Given the description of an element on the screen output the (x, y) to click on. 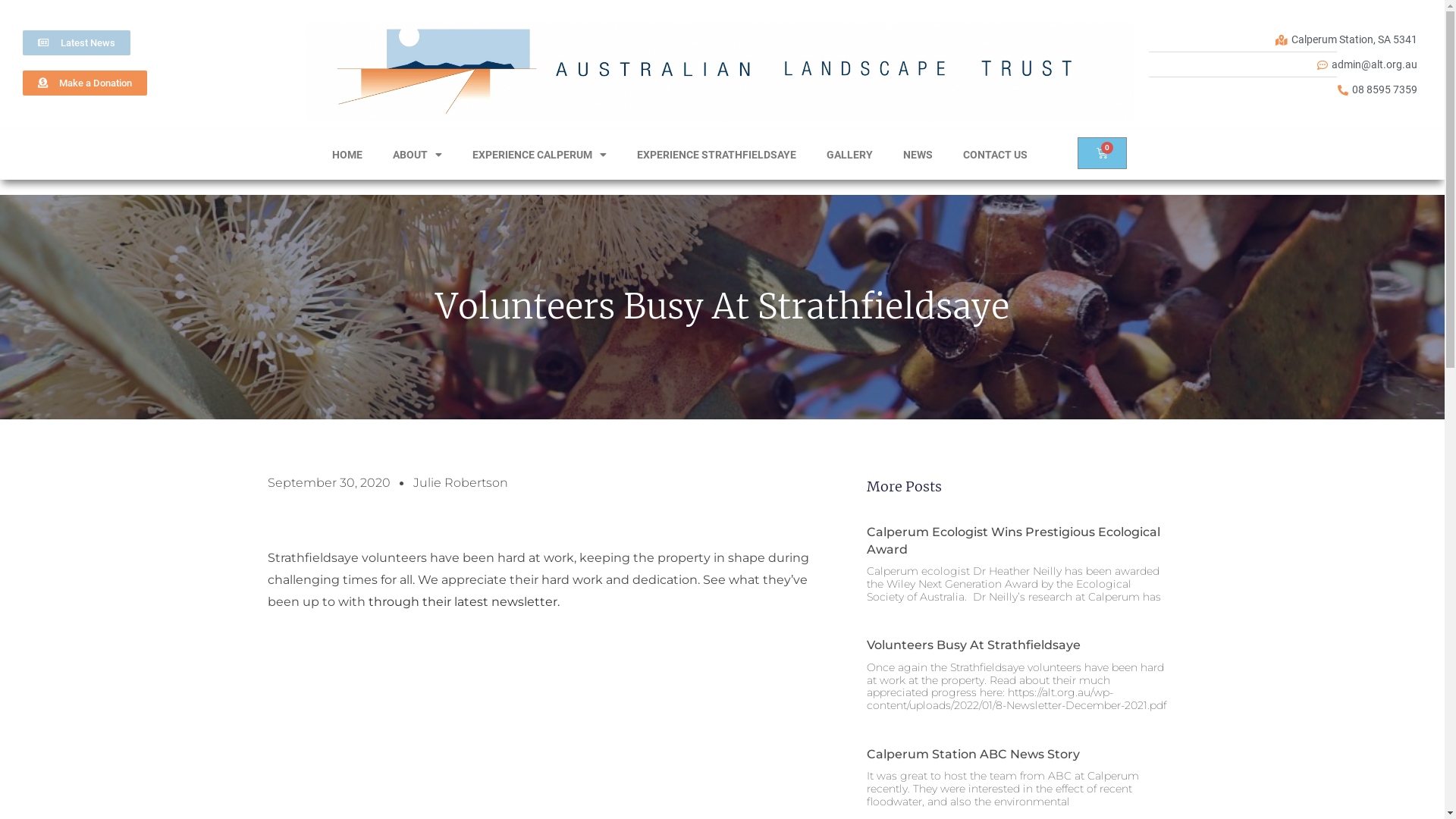
CONTACT US Element type: text (994, 154)
Calperum Station ABC News Story Element type: text (972, 753)
EXPERIENCE STRATHFIELDSAYE Element type: text (716, 154)
Calperum Ecologist Wins Prestigious Ecological Award Element type: text (1012, 539)
GALLERY Element type: text (849, 154)
Volunteers Busy At Strathfieldsaye Element type: text (972, 644)
through their latest newsletter. Element type: text (463, 601)
ABOUT Element type: text (417, 154)
September 30, 2020 Element type: text (327, 483)
HOME Element type: text (346, 154)
Julie Robertson Element type: text (459, 483)
Latest News Element type: text (76, 42)
EXPERIENCE CALPERUM Element type: text (539, 154)
NEWS Element type: text (917, 154)
Make a Donation Element type: text (84, 82)
